Given the description of an element on the screen output the (x, y) to click on. 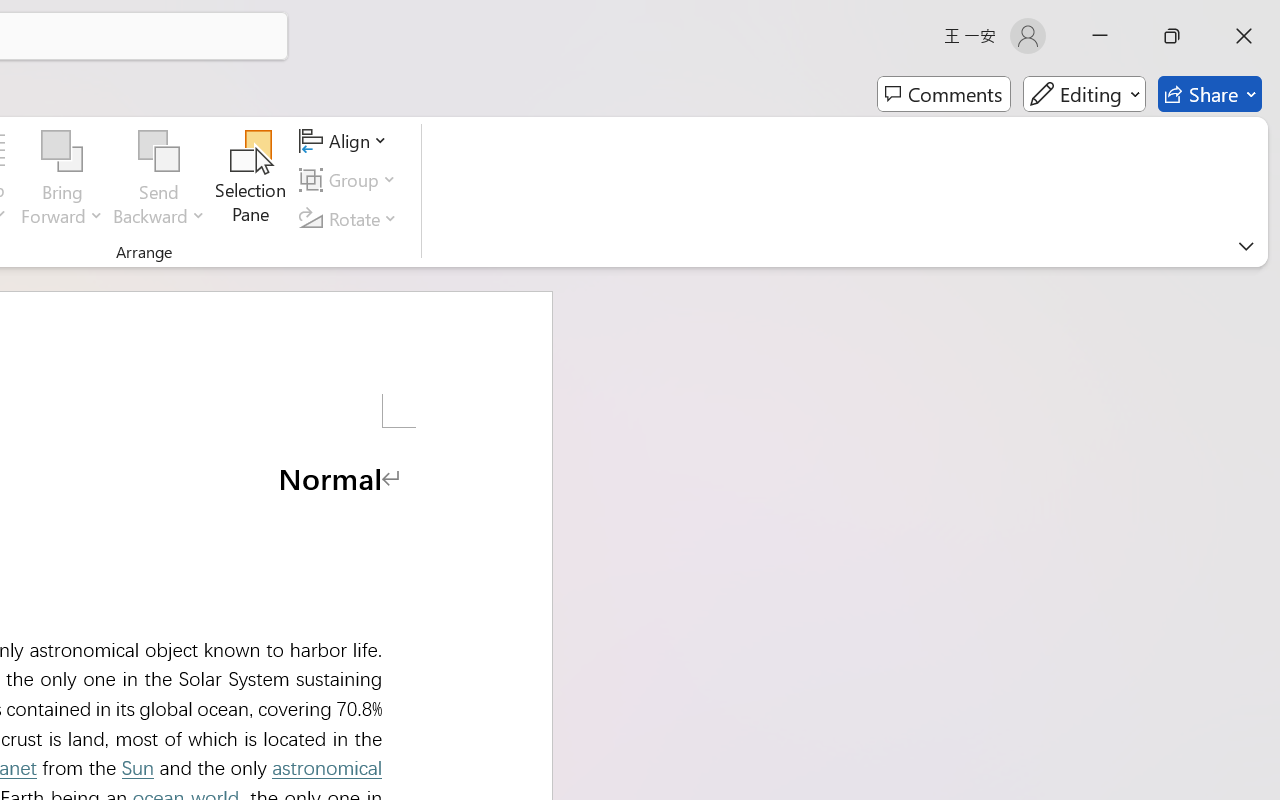
Group (351, 179)
Send Backward (159, 179)
